Given the description of an element on the screen output the (x, y) to click on. 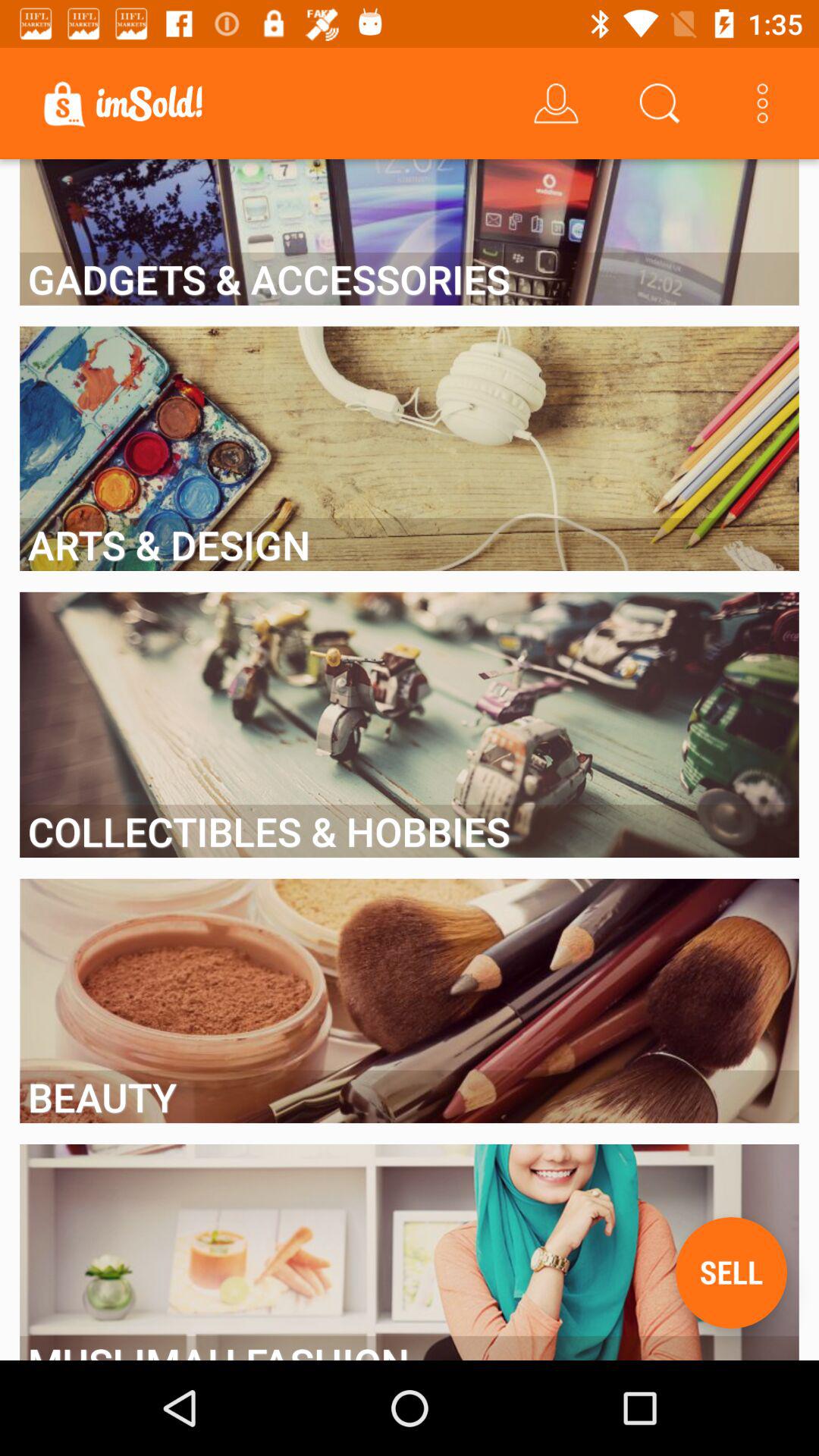
sell an item (731, 1272)
